Given the description of an element on the screen output the (x, y) to click on. 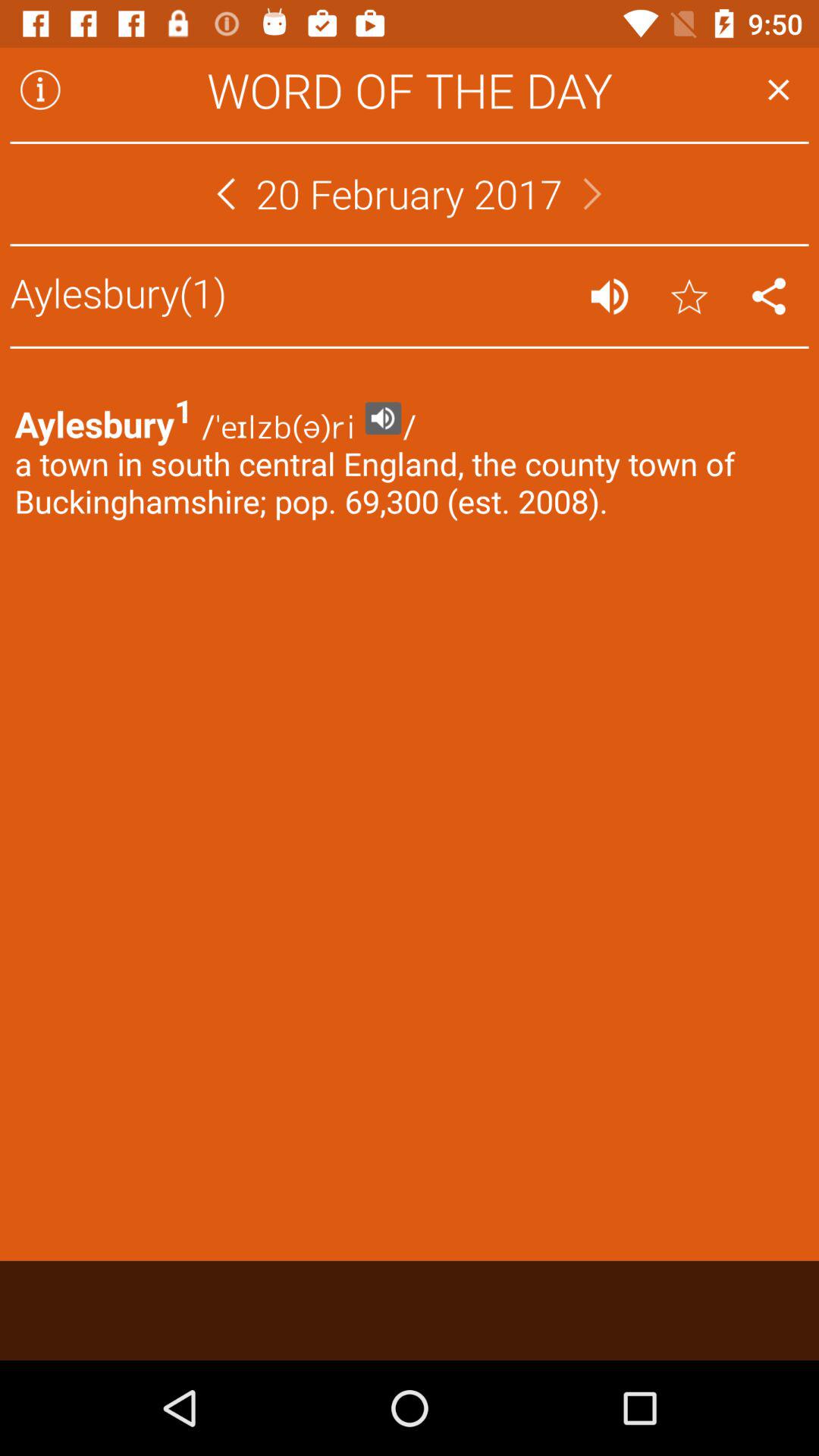
click app to the left of the word of the app (40, 89)
